Given the description of an element on the screen output the (x, y) to click on. 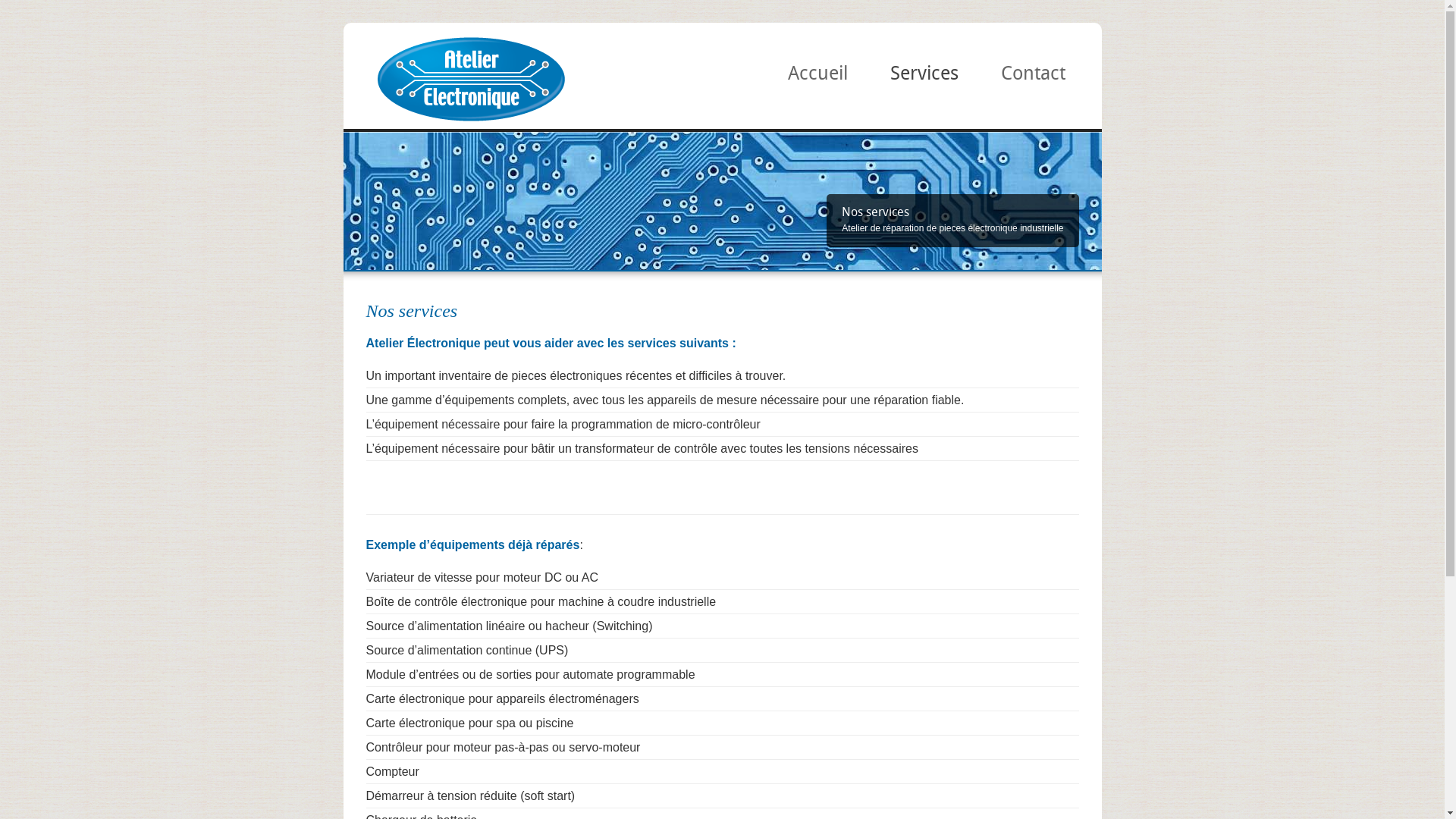
Atelier Electronique Element type: hover (470, 121)
Contact Element type: text (1032, 77)
Services Element type: text (924, 77)
Accueil Element type: text (817, 77)
